Given the description of an element on the screen output the (x, y) to click on. 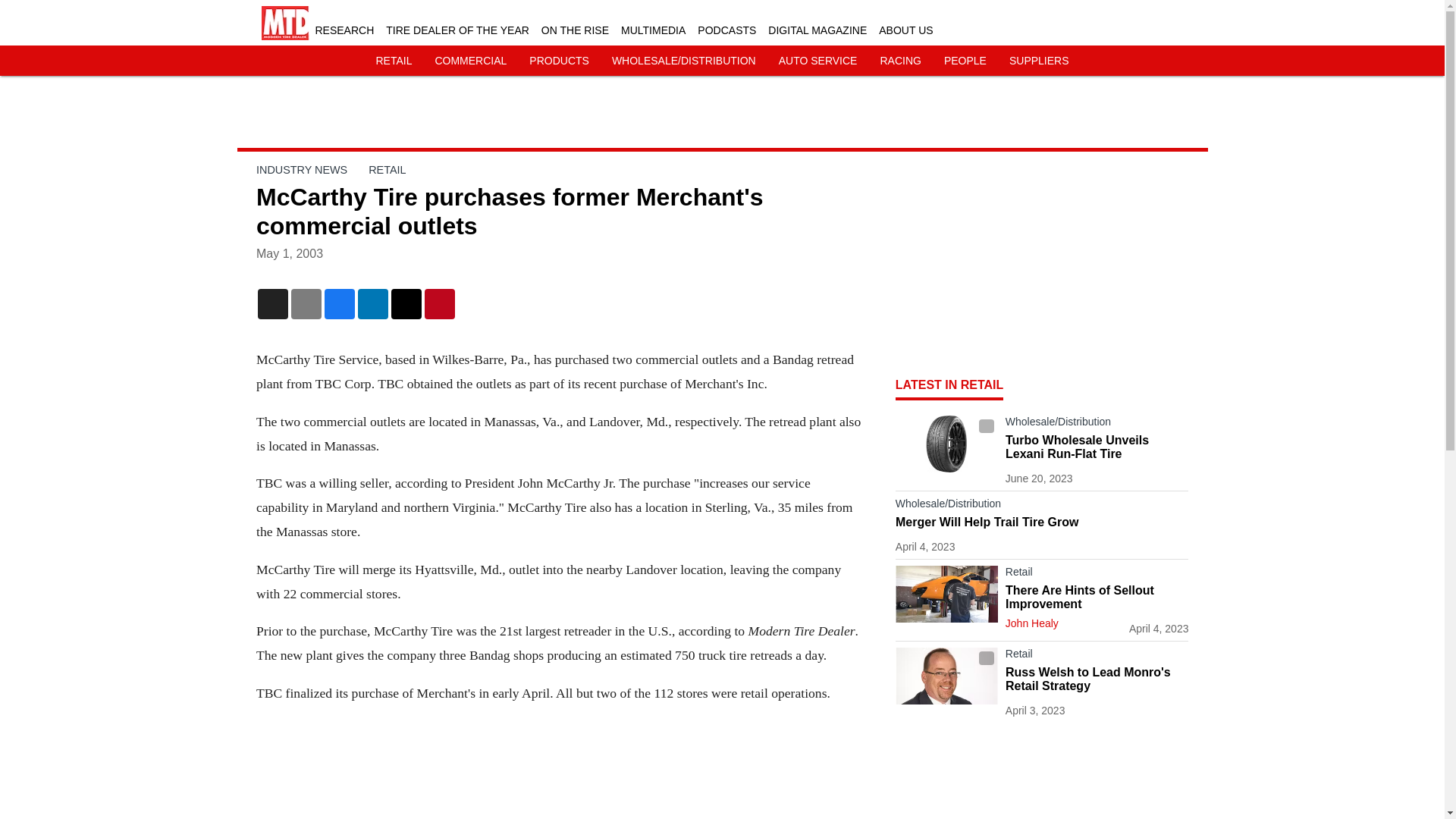
DIGITAL MAGAZINE (817, 30)
John Healy (1032, 623)
Merger Will Help Trail Tire Grow (1042, 522)
ON THE RISE (574, 30)
INDUSTRY NEWS (301, 169)
Retail (1097, 574)
Retail (1097, 656)
TIRE DEALER OF THE YEAR (457, 30)
RETAIL (393, 60)
PODCASTS (726, 30)
RESEARCH (344, 30)
ABOUT US (906, 30)
COMMERCIAL (469, 60)
There Are Hints of Sellout Improvement (1097, 596)
PRODUCTS (559, 60)
